Given the description of an element on the screen output the (x, y) to click on. 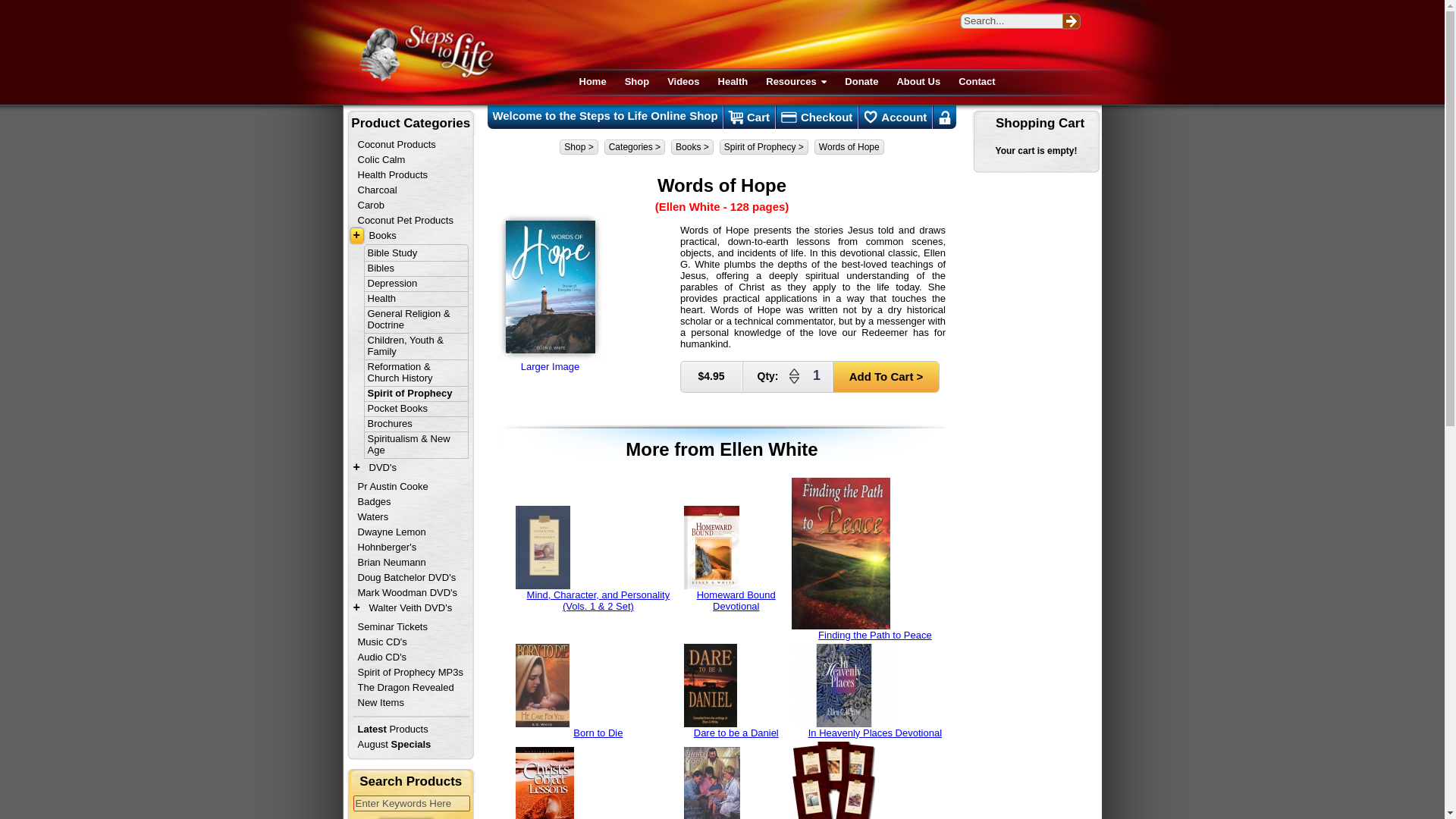
1 (816, 376)
Login (945, 116)
Enter Keywords Here (411, 803)
Steps to Life Australia (425, 52)
Search... (1010, 20)
